Given the description of an element on the screen output the (x, y) to click on. 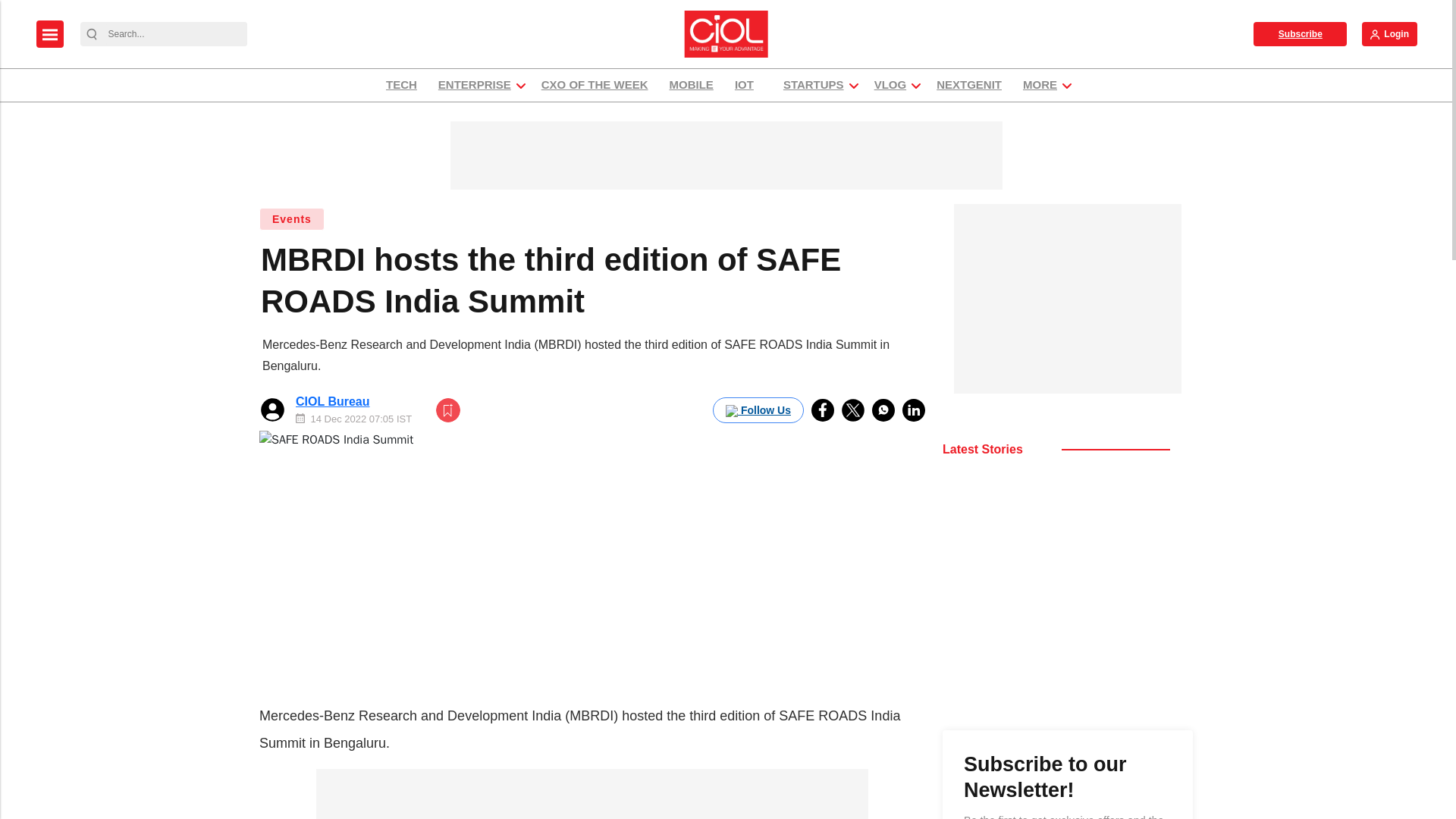
CXO OF THE WEEK (594, 84)
VLOG (890, 84)
MOBILE (691, 84)
ENTERPRISE (474, 84)
STARTUPS (812, 84)
NEXTGENIT (969, 84)
Subscribe (1299, 33)
TECH (401, 84)
IOT (748, 84)
MORE (1039, 84)
